Given the description of an element on the screen output the (x, y) to click on. 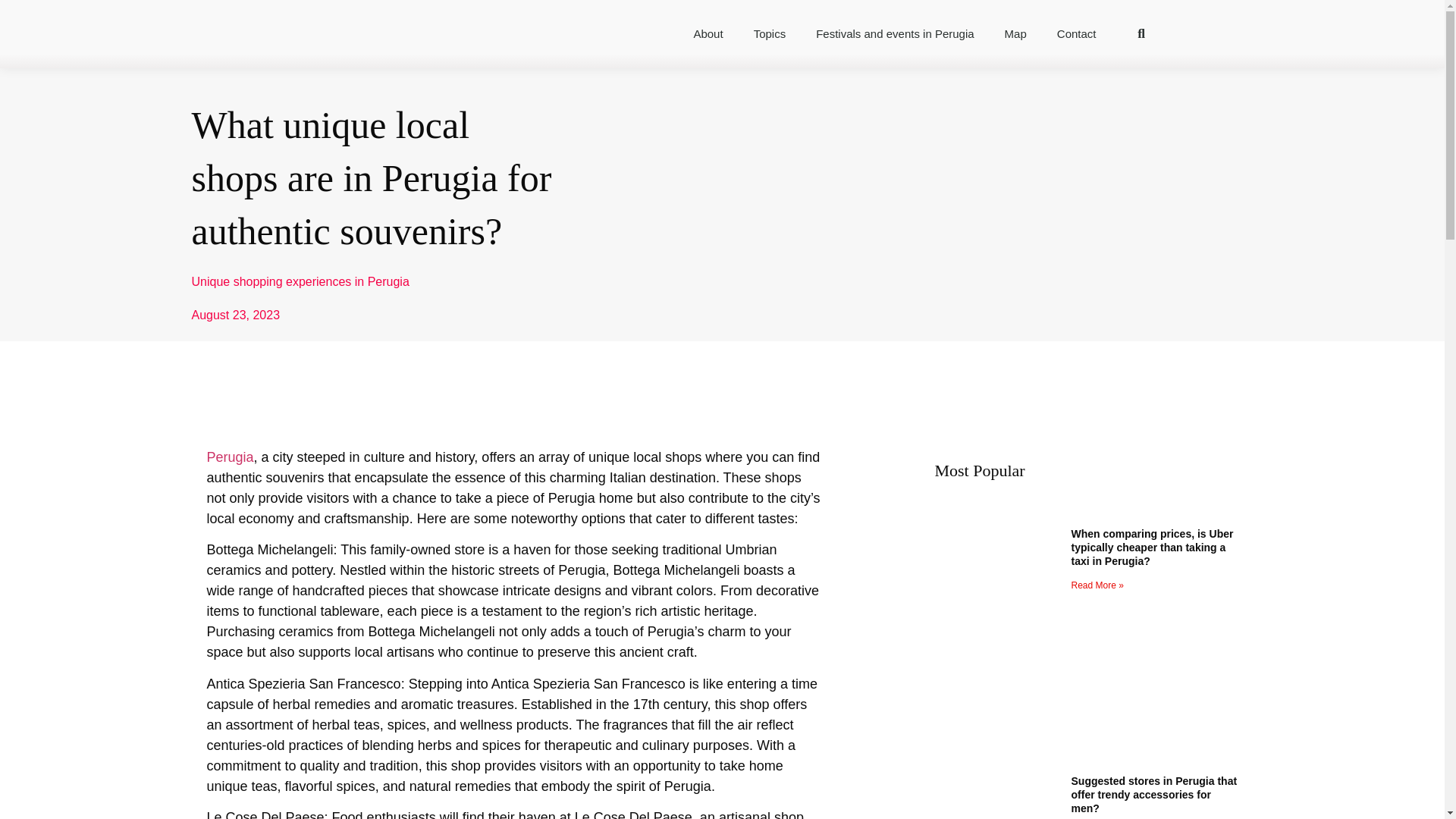
Topics (770, 33)
Perugia (229, 457)
Contact (1077, 33)
Festivals and events in Perugia (894, 33)
Unique shopping experiences in Perugia (299, 281)
